Given the description of an element on the screen output the (x, y) to click on. 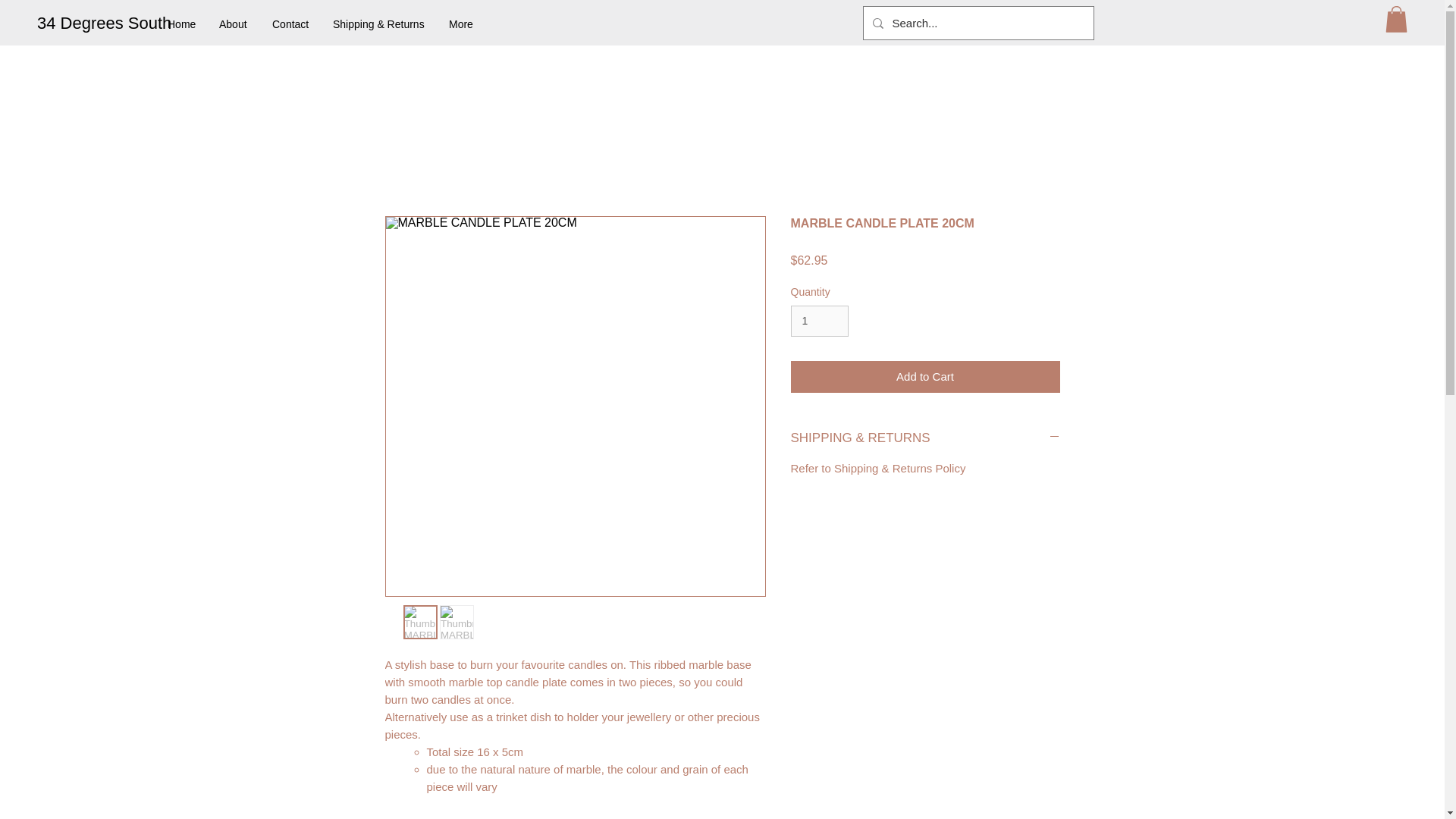
Home (181, 24)
Contact (290, 24)
34 Degrees South (104, 23)
1 (818, 320)
About (234, 24)
Add to Cart (924, 377)
